Given the description of an element on the screen output the (x, y) to click on. 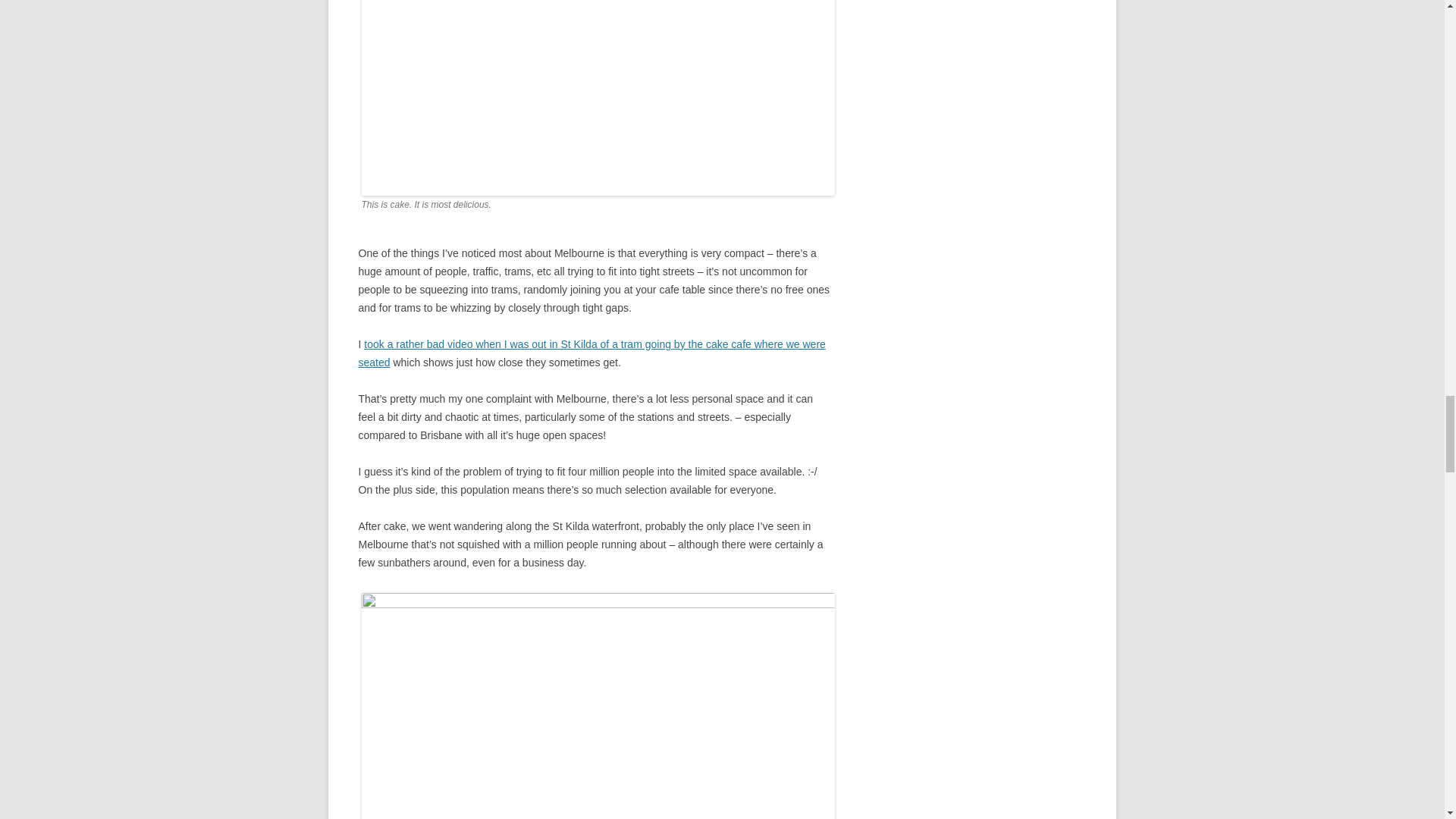
2011-02-03 15.20.12 (597, 97)
2011-02-03 16.10.41 (597, 705)
